Given the description of an element on the screen output the (x, y) to click on. 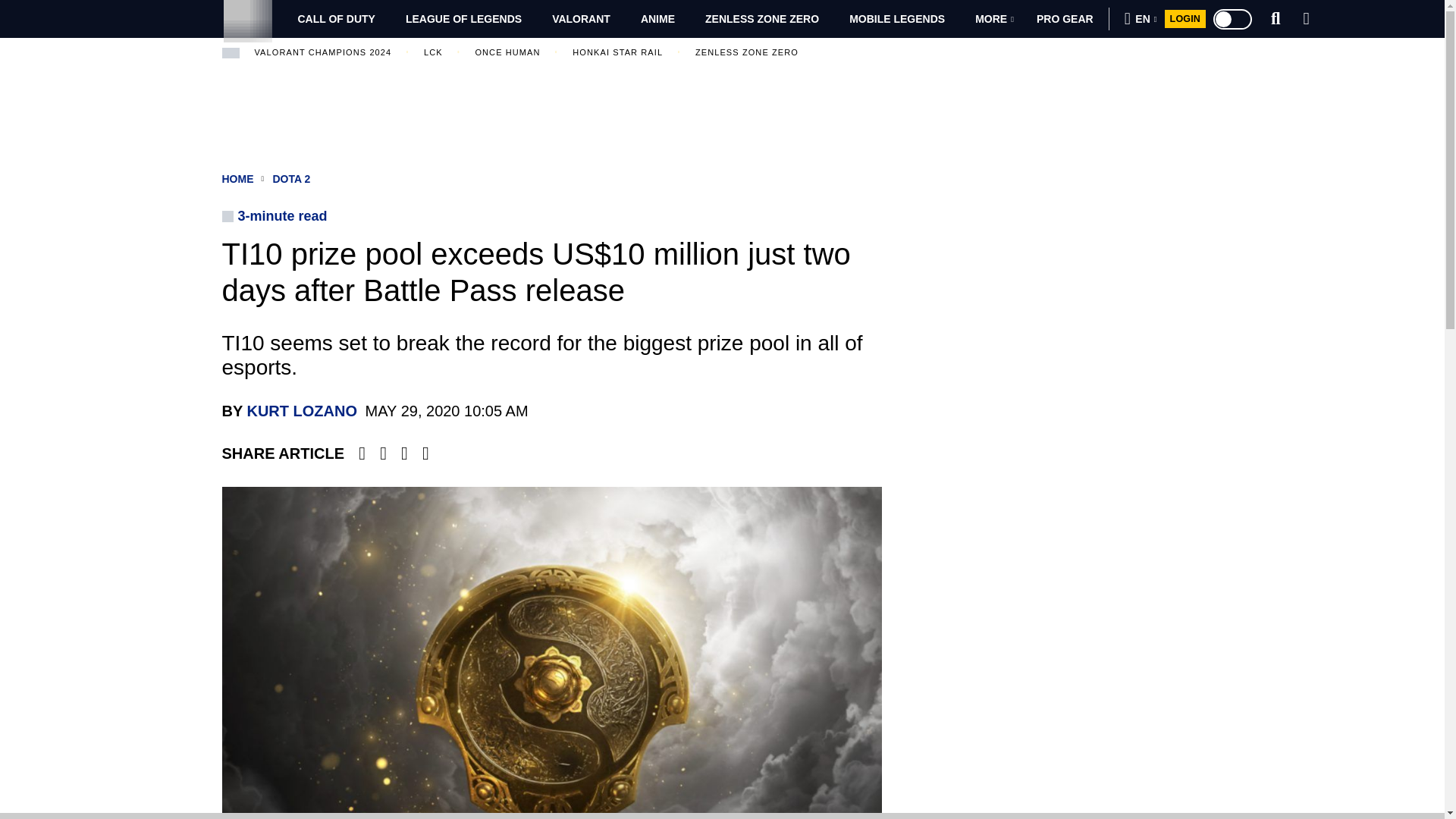
ZENLESS ZONE ZERO (762, 18)
ANIME (658, 18)
Go (1188, 62)
CALL OF DUTY (336, 18)
VALORANT (581, 18)
LEAGUE OF LEGENDS (463, 18)
EN (1140, 18)
MOBILE LEGENDS (896, 18)
PRO GEAR (1064, 18)
MORE (994, 18)
